Given the description of an element on the screen output the (x, y) to click on. 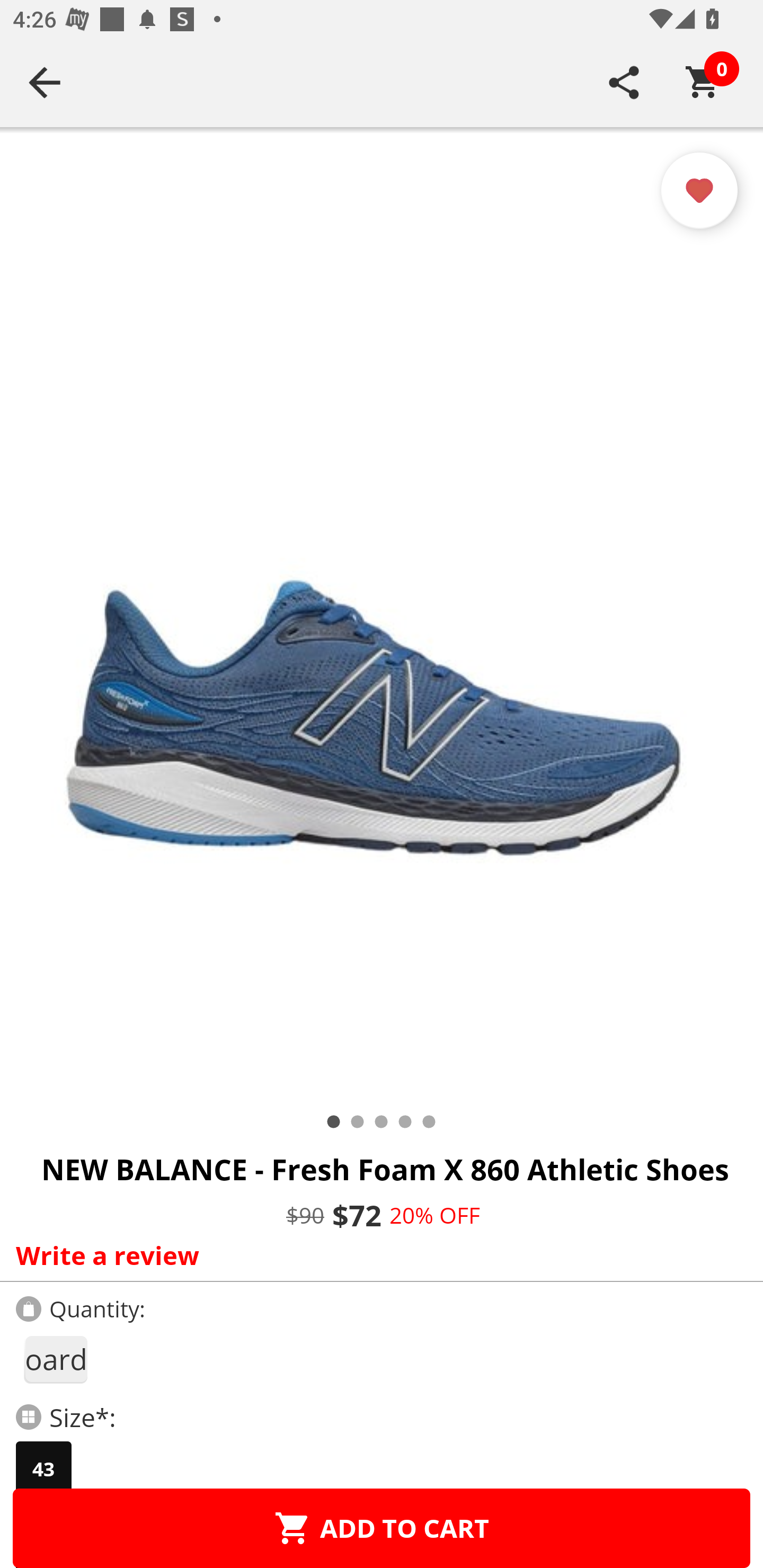
Navigate up (44, 82)
SHARE (623, 82)
Cart (703, 81)
Write a review (377, 1255)
1keyboard (55, 1358)
43 (43, 1468)
ADD TO CART (381, 1528)
